Given the description of an element on the screen output the (x, y) to click on. 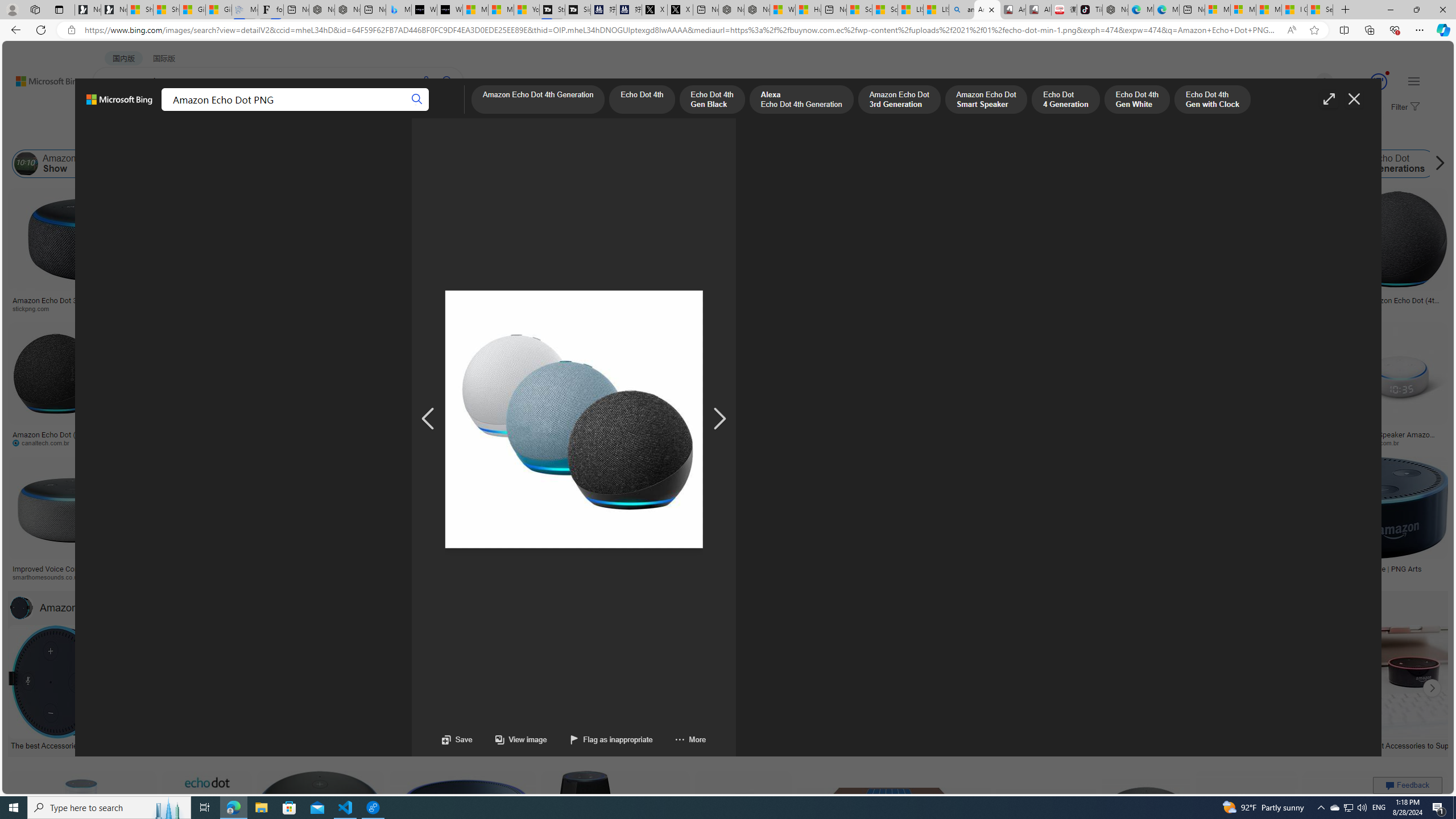
Layout (252, 135)
View image (509, 739)
croma.com (463, 442)
Amazon Echo Dot Logo (949, 163)
buynow.com.ec (635, 442)
pngarts.com (1311, 576)
Save (457, 739)
inpower.com.br (1381, 442)
